Given the description of an element on the screen output the (x, y) to click on. 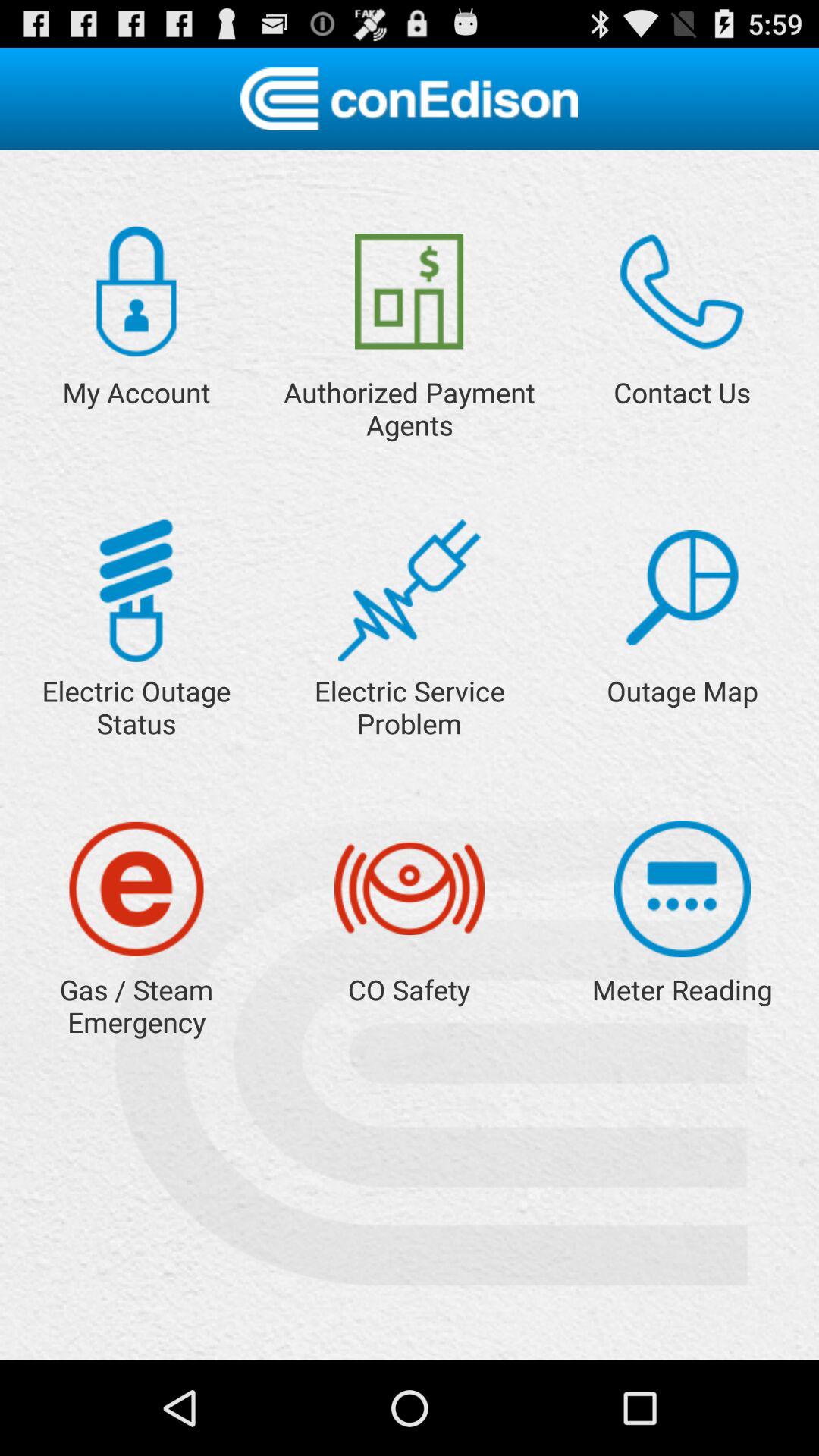
search payment agents (408, 291)
